Given the description of an element on the screen output the (x, y) to click on. 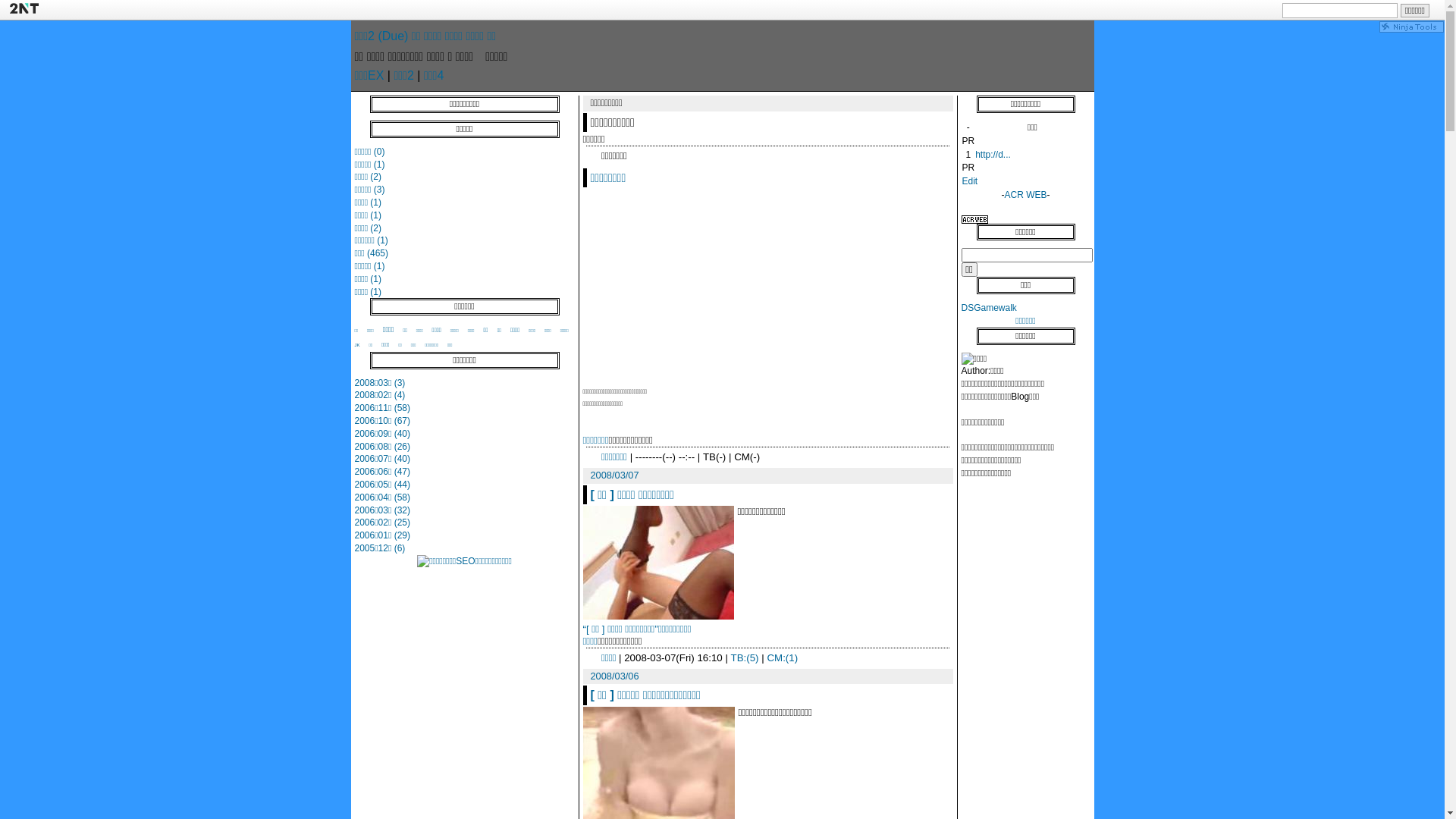
DSGamewalk Element type: text (988, 307)
JK Element type: text (357, 343)
http://d... Element type: text (992, 154)
2008/03/06 Element type: text (613, 675)
TB:(5) Element type: text (745, 657)
2008/03/07 Element type: text (613, 474)
ACR WEB Element type: text (1025, 194)
Edit Element type: text (969, 180)
CM:(1) Element type: text (781, 657)
